Given the description of an element on the screen output the (x, y) to click on. 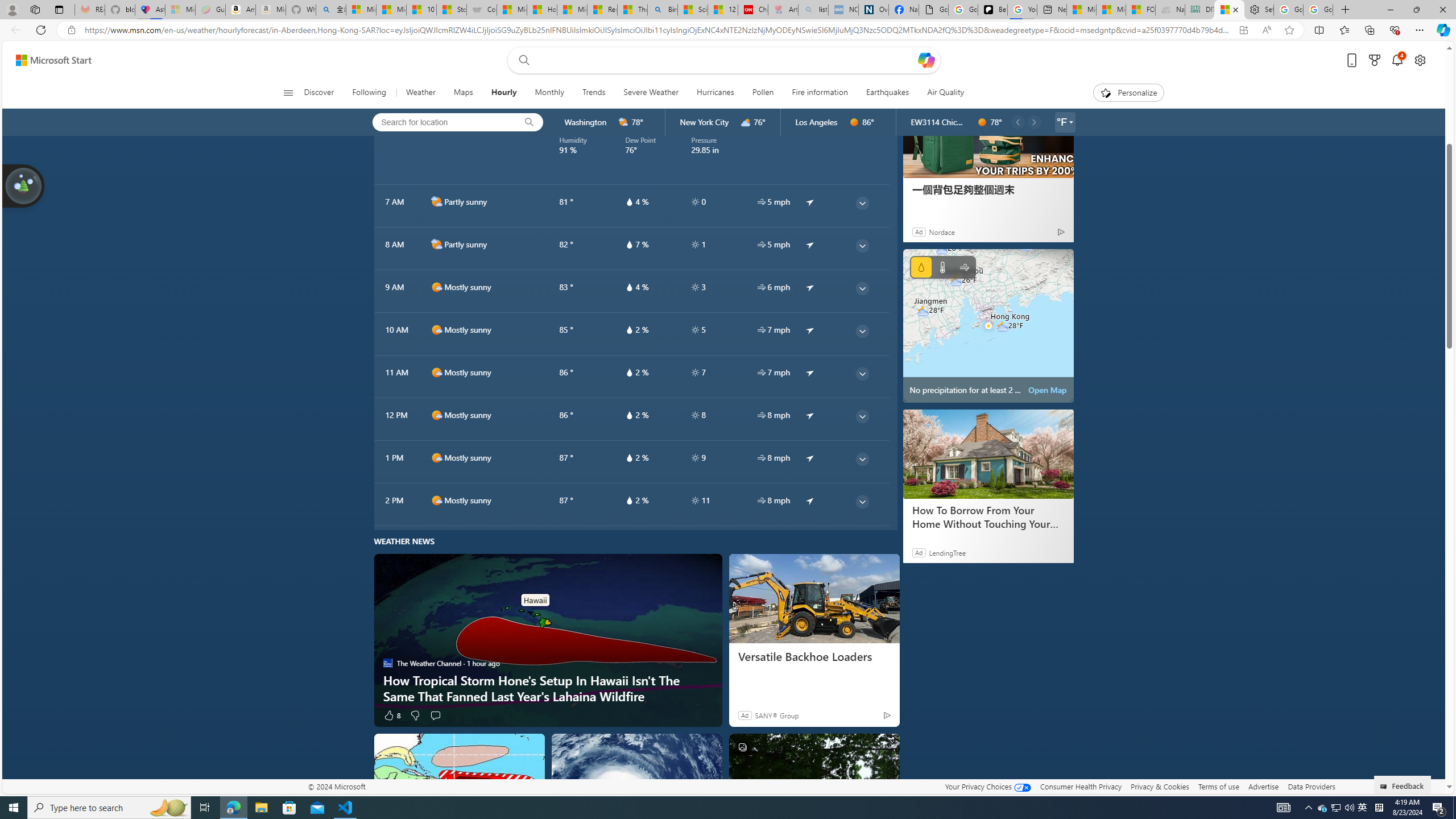
Open Map (1047, 390)
d2000 (436, 244)
Severe Weather (650, 92)
The Weather Channel (387, 662)
Ad Choice (1060, 231)
Asthma Inhalers: Names and Types (149, 9)
common/carouselChevron (1034, 121)
Consumer Health Privacy (1080, 785)
Skip to footer (46, 59)
Web search (520, 60)
hourlyTable/wind (761, 500)
Join us in planting real trees to help our planet! (23, 184)
